Given the description of an element on the screen output the (x, y) to click on. 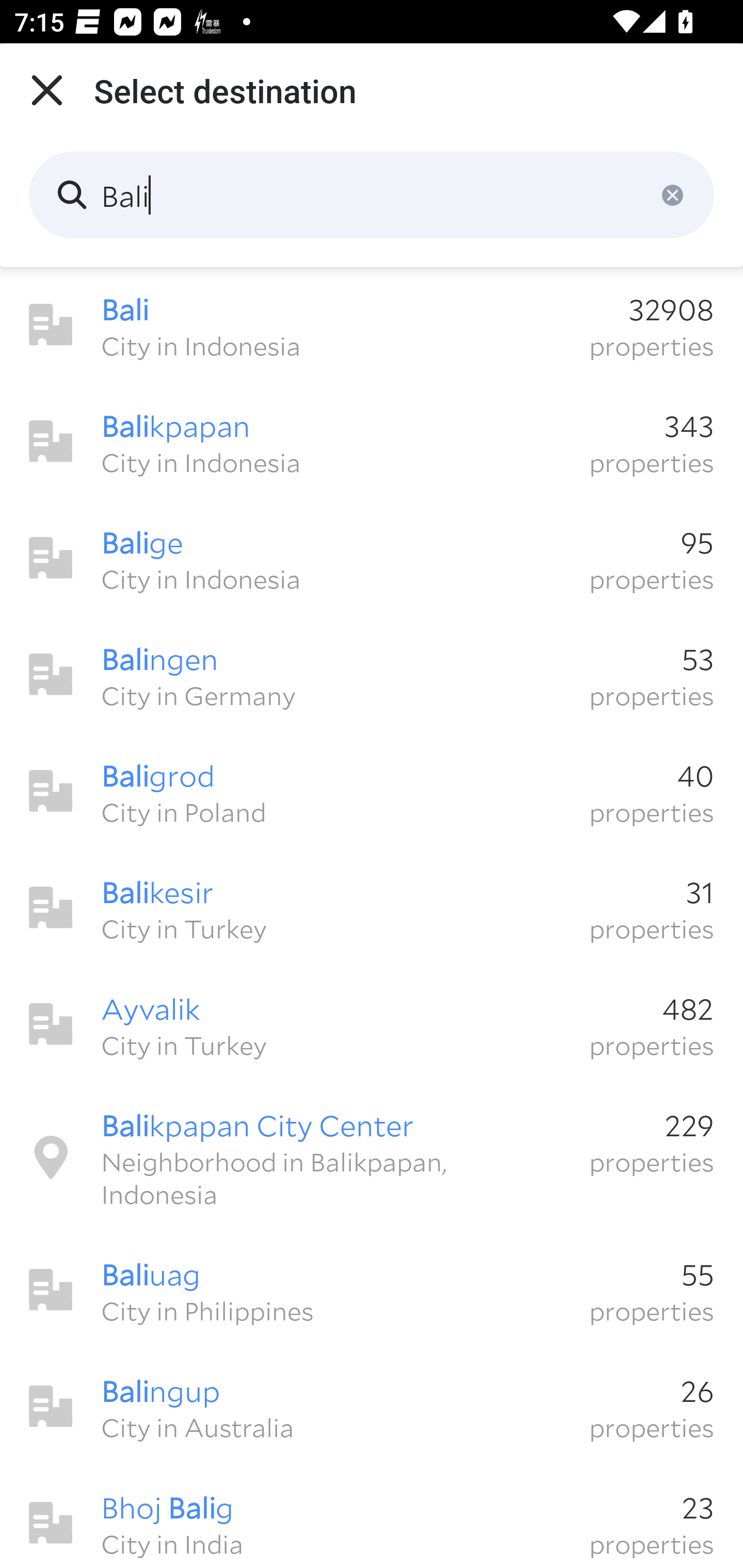
Bali (371, 195)
Bali 32908 City in Indonesia properties (371, 325)
Balikpapan 343 City in Indonesia properties (371, 442)
Balige 95 City in Indonesia properties (371, 558)
Balingen 53 City in Germany properties (371, 674)
Baligrod 40 City in Poland properties (371, 791)
Balikesir 31 City in Turkey properties (371, 907)
Ayvalik 482 City in Turkey properties (371, 1024)
Baliuag 55 City in Philippines properties (371, 1290)
Balingup 26 City in Australia properties (371, 1407)
Bhoj Balig 23 City in India properties (371, 1517)
